Given the description of an element on the screen output the (x, y) to click on. 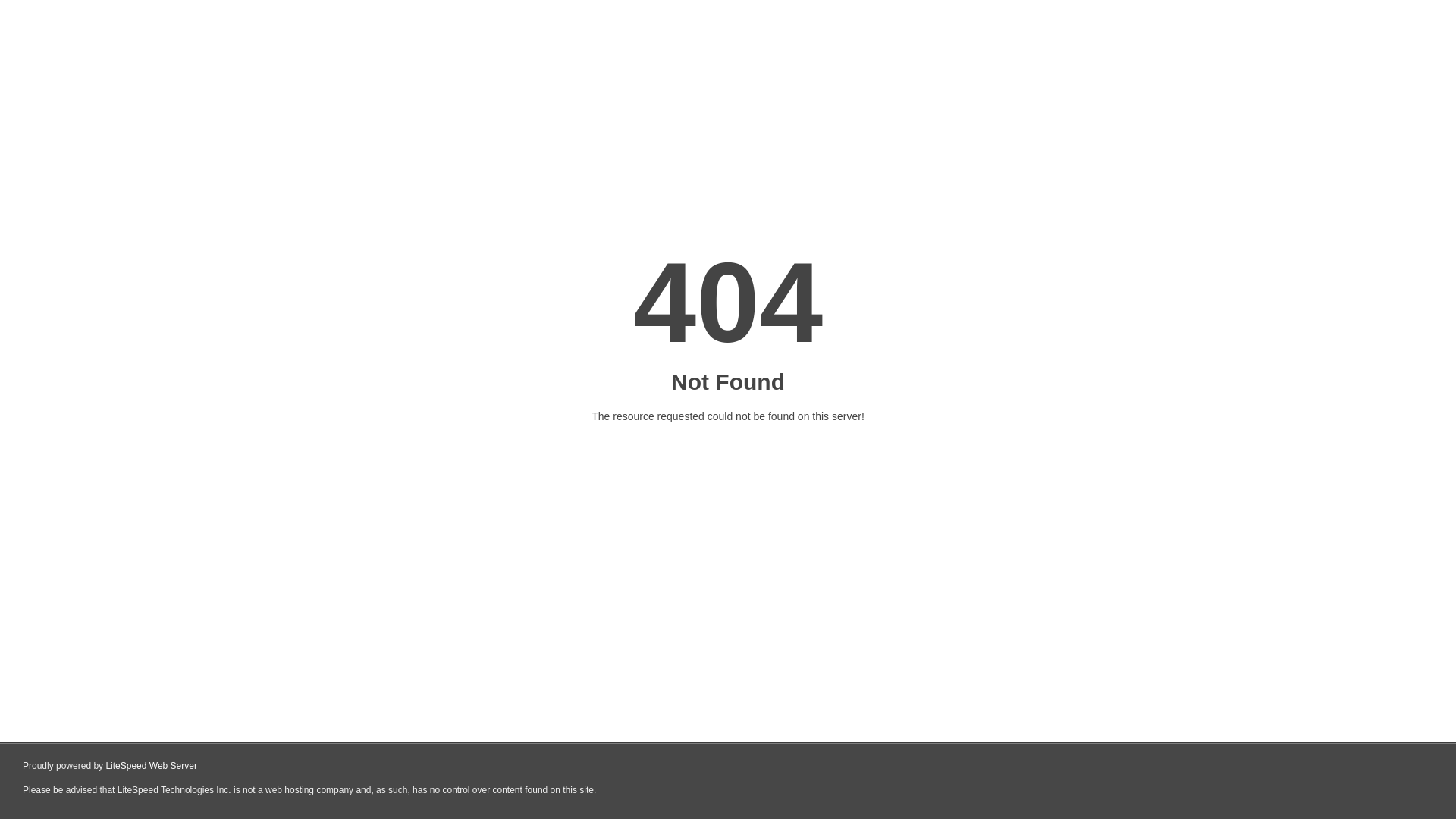
LiteSpeed Web Server Element type: text (151, 765)
